Given the description of an element on the screen output the (x, y) to click on. 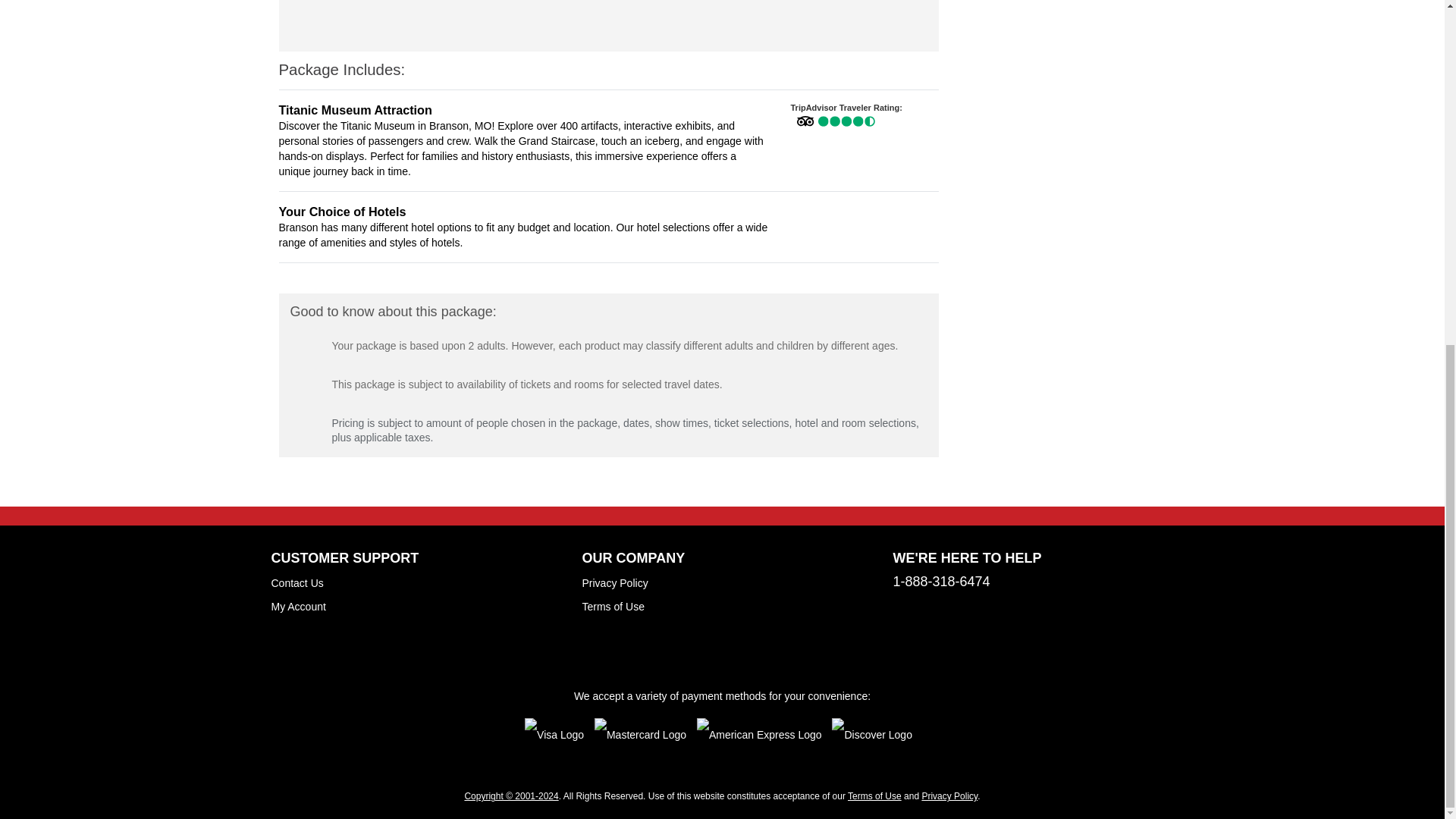
Terms of Use (874, 796)
Contact Us (296, 582)
Terms of Use (613, 606)
Privacy Policy (614, 582)
Privacy Policy (948, 796)
My Account (298, 606)
